Given the description of an element on the screen output the (x, y) to click on. 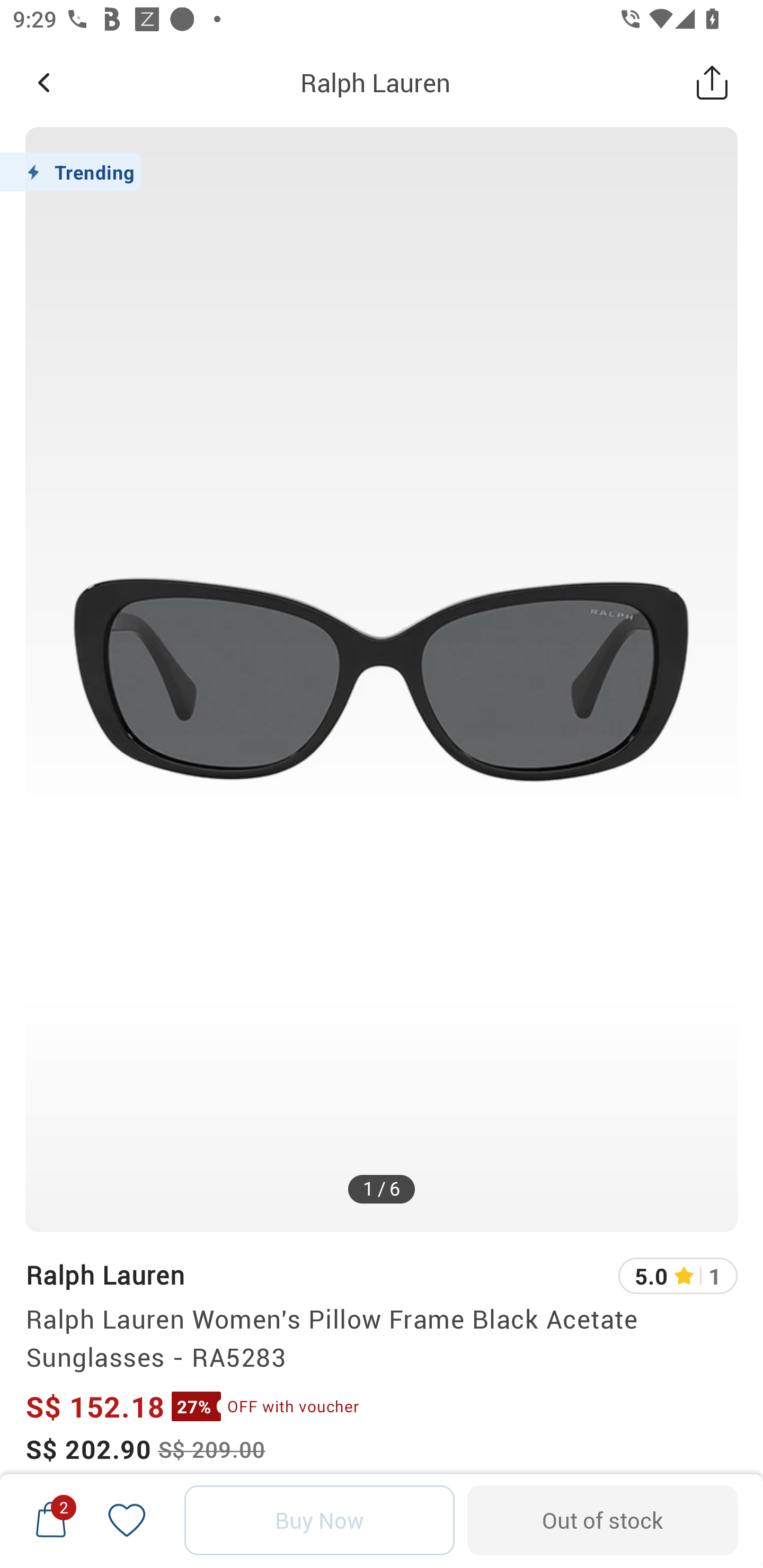
Ralph Lauren (375, 82)
Share this Product (711, 82)
Ralph Lauren (104, 1274)
5.0 1 (677, 1275)
Buy Now (319, 1519)
Out of stock (601, 1519)
2 (50, 1520)
